Given the description of an element on the screen output the (x, y) to click on. 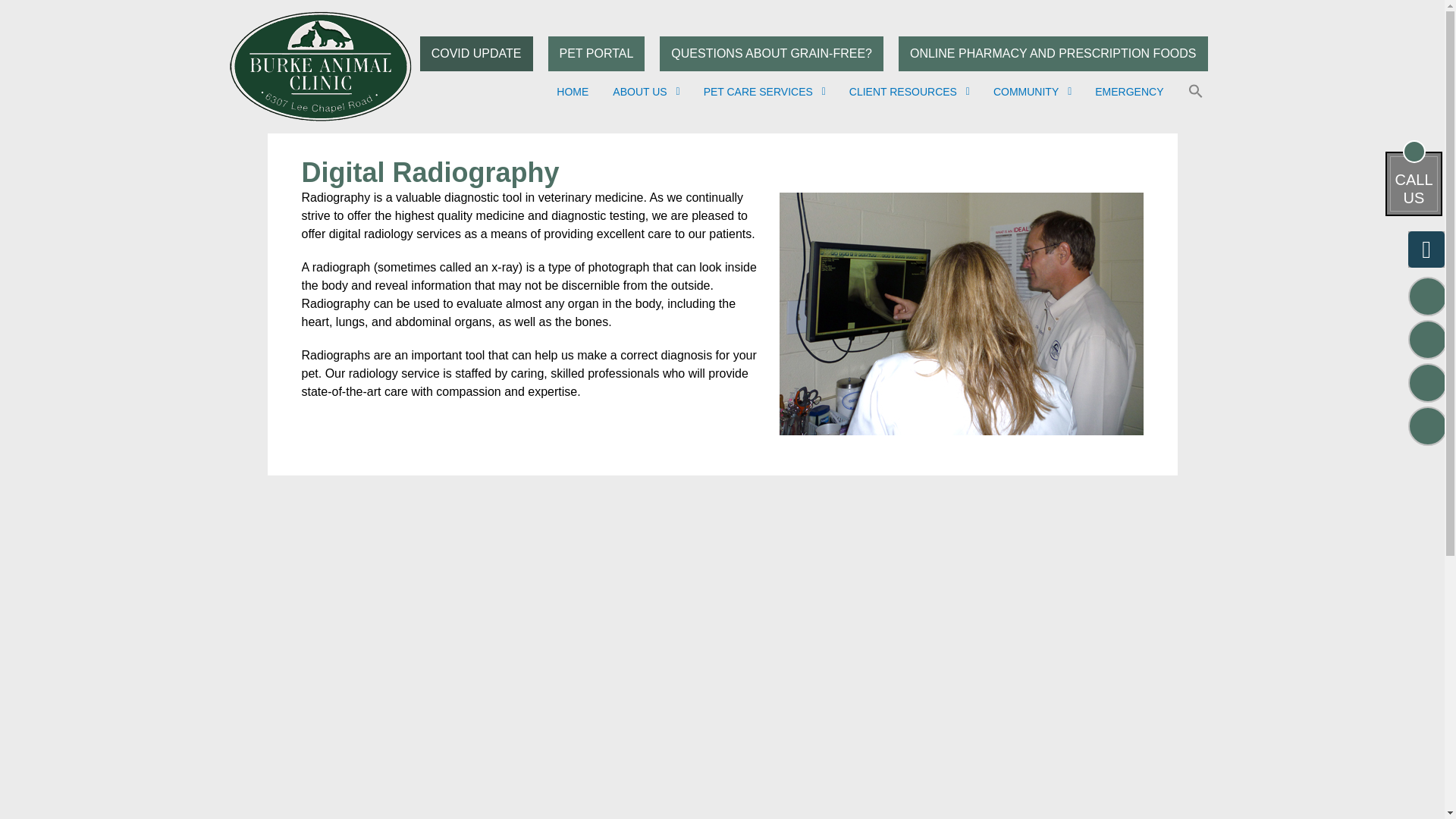
ONLINE PHARMACY AND PRESCRIPTION FOODS (1053, 53)
ABOUT US (645, 91)
CLIENT RESOURCES (909, 91)
COVID UPDATE (476, 53)
COMMUNITY (1032, 91)
QUESTIONS ABOUT GRAIN-FREE? (771, 53)
HOME (572, 91)
PET CARE SERVICES (764, 91)
PET PORTAL (596, 53)
